Given the description of an element on the screen output the (x, y) to click on. 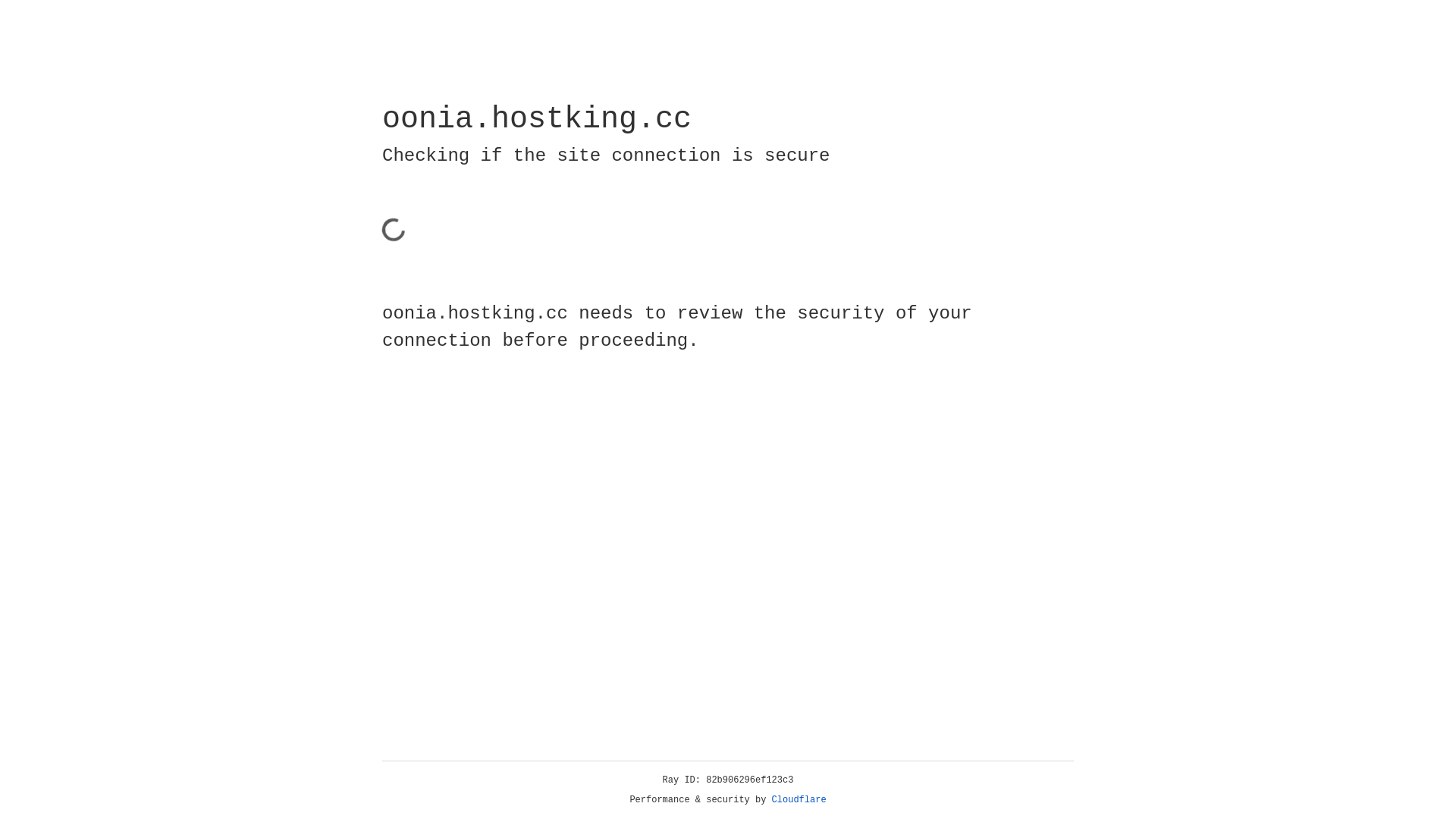
Cloudflare Element type: text (798, 799)
